Given the description of an element on the screen output the (x, y) to click on. 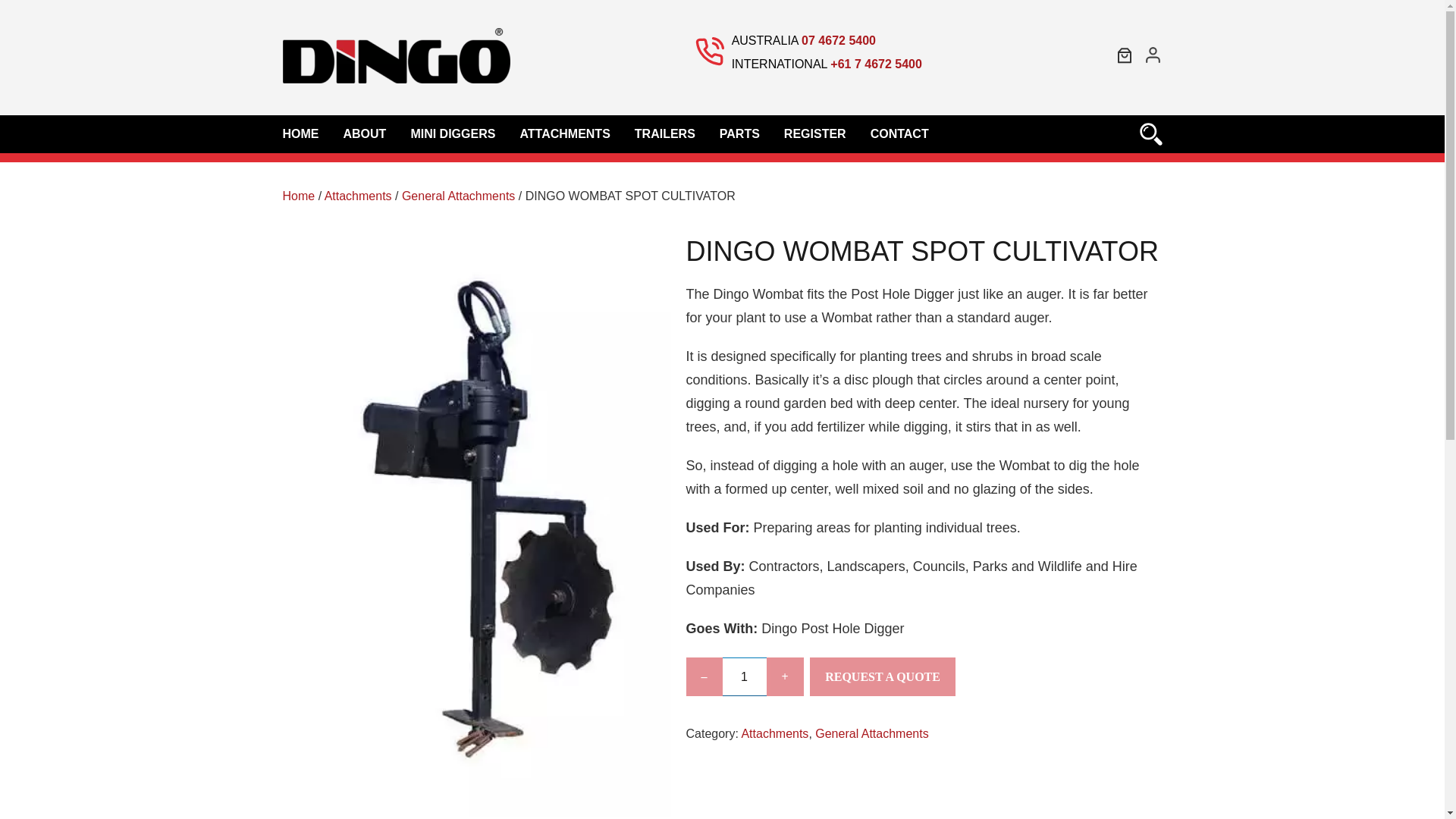
ABOUT (363, 134)
MINI DIGGERS (451, 134)
07 4672 5400 (839, 39)
ATTACHMENTS (563, 134)
HOME (306, 134)
1 (743, 676)
